Given the description of an element on the screen output the (x, y) to click on. 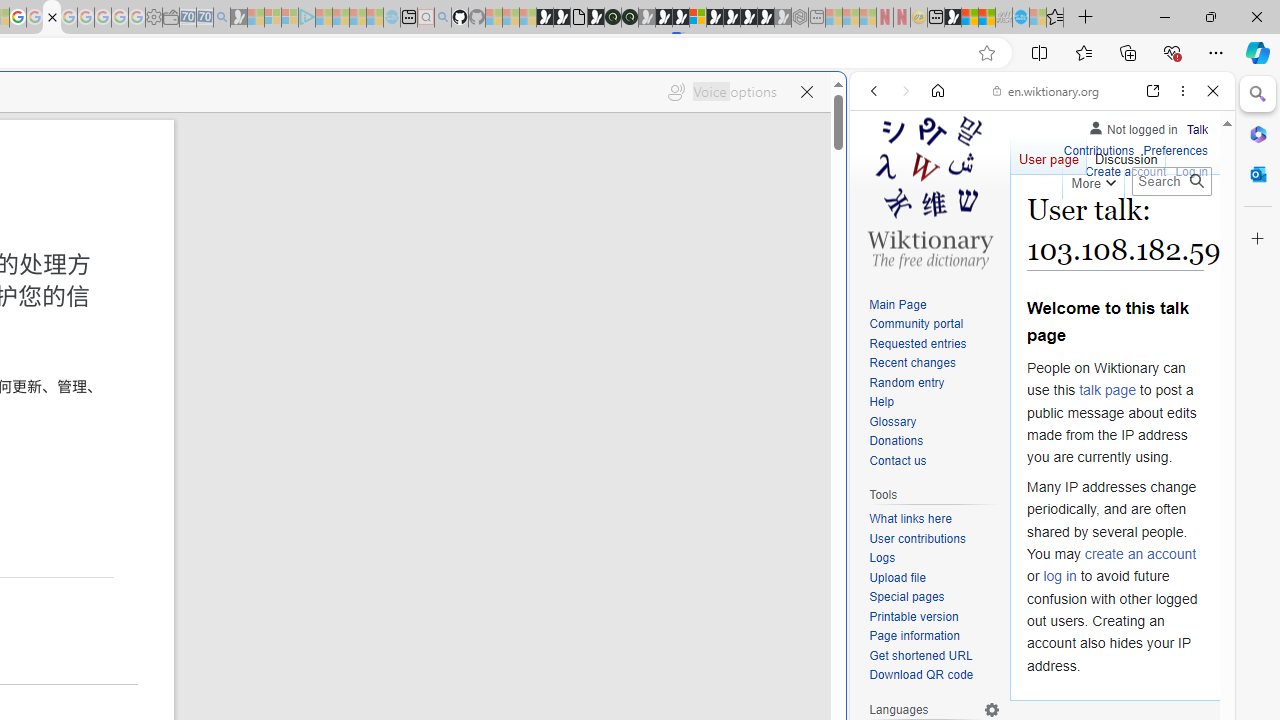
Play Cave FRVR in your browser | Games from Microsoft Start (663, 17)
Talk (1197, 129)
Discussion (1125, 154)
google_privacy_policy_zh-CN.pdf (51, 17)
Wiktionary (1034, 669)
Visit the main page (929, 190)
Special pages (934, 597)
Donations (896, 441)
Requested entries (934, 344)
